Given the description of an element on the screen output the (x, y) to click on. 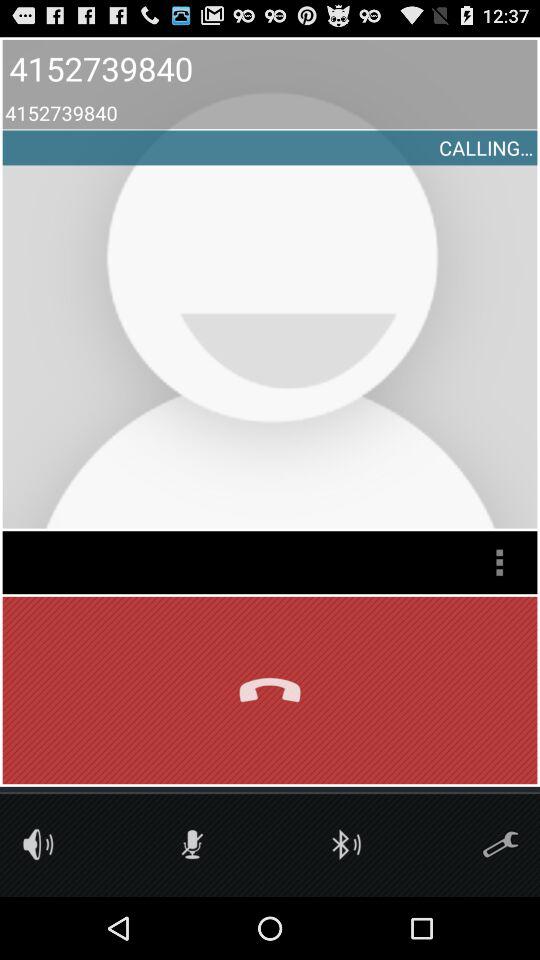
call settings (500, 844)
